Given the description of an element on the screen output the (x, y) to click on. 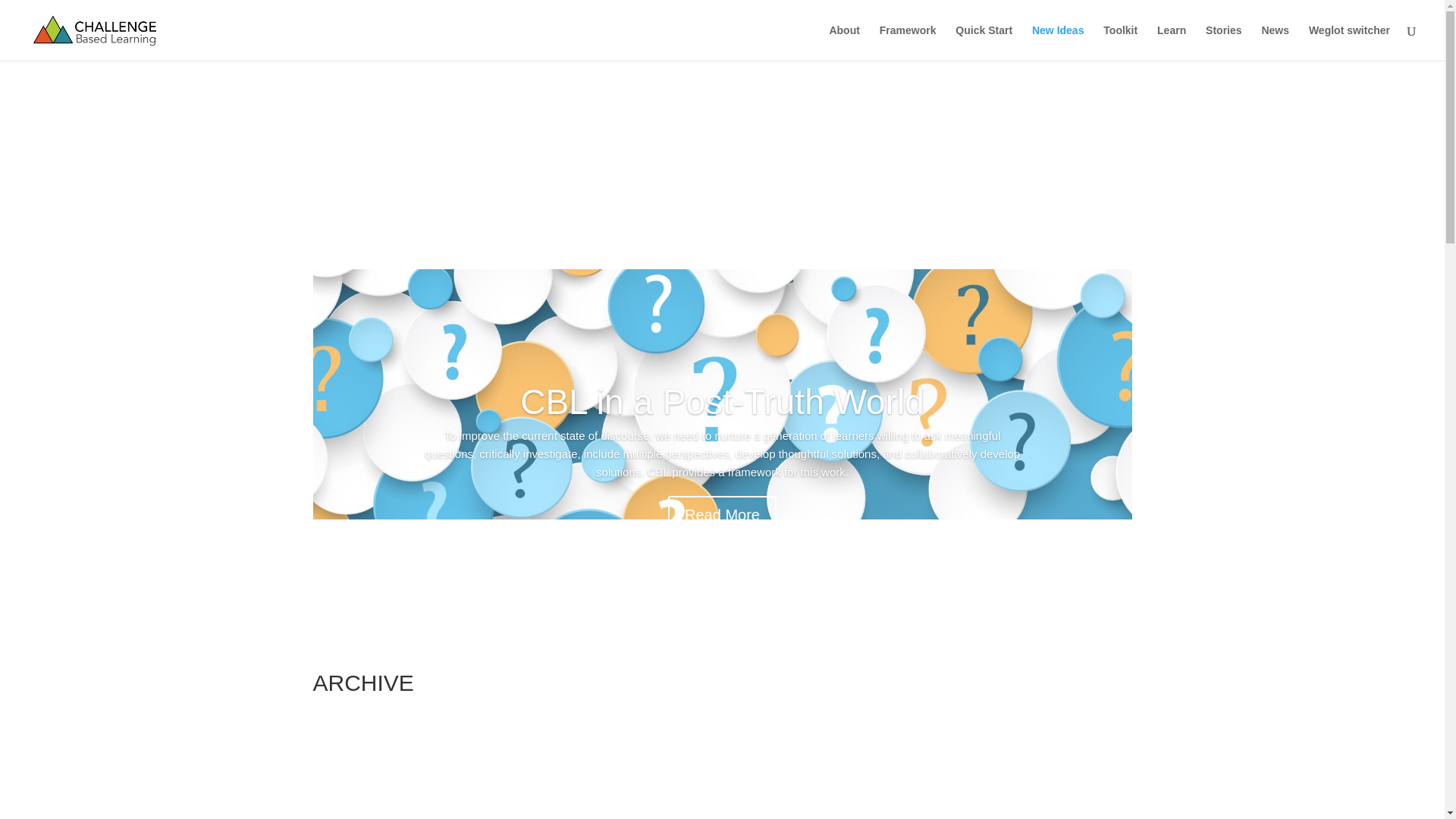
CBL in a Post-Truth World (721, 401)
Framework (907, 42)
Weglot switcher (1349, 42)
Read More (722, 514)
Quick Start (983, 42)
Stories (1223, 42)
New Ideas (1057, 42)
Toolkit (1120, 42)
